Given the description of an element on the screen output the (x, y) to click on. 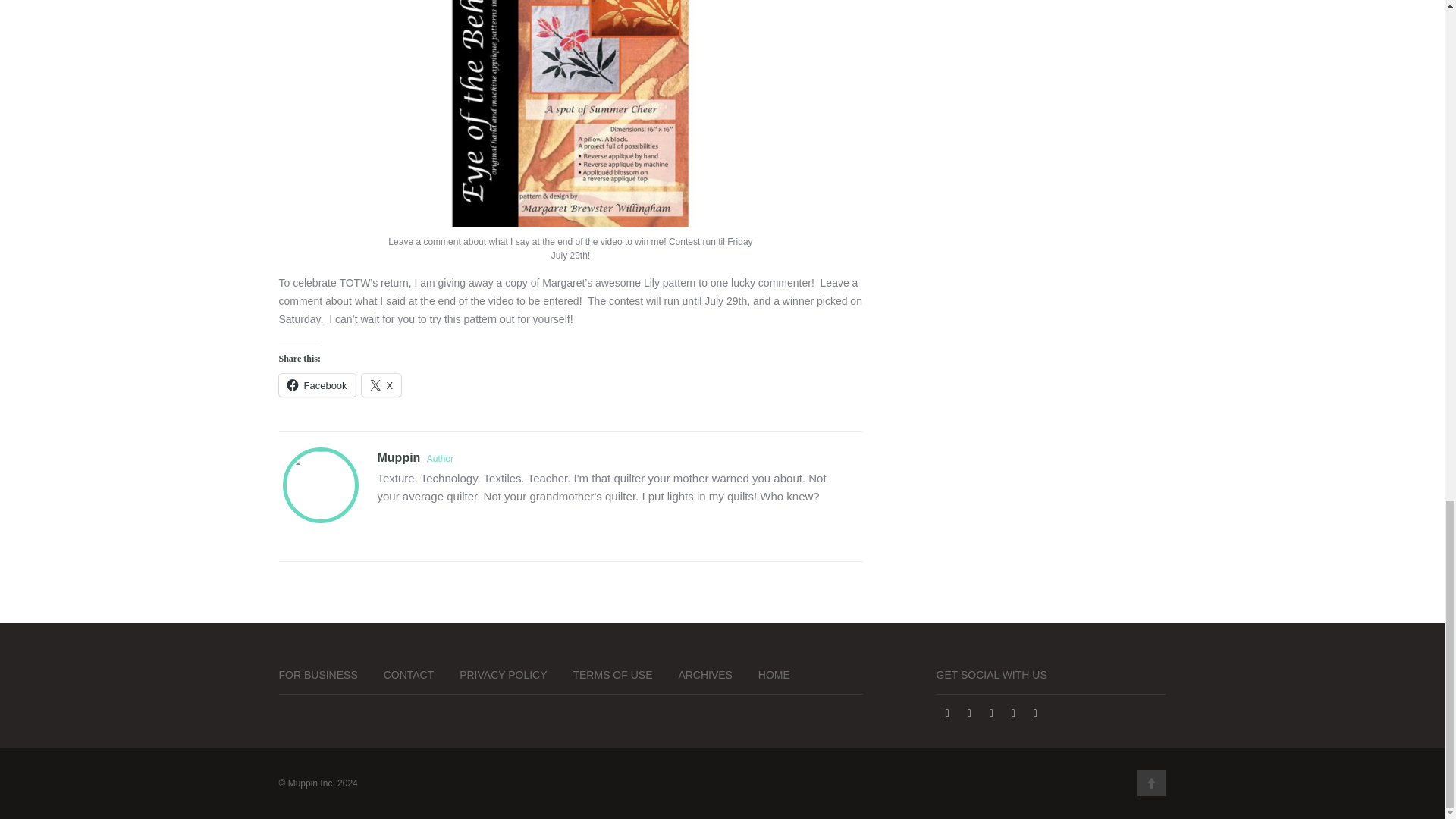
Click to share on X (381, 384)
CONTACT (408, 674)
X (381, 384)
PRIVACY POLICY (503, 674)
HOME (774, 674)
Muppin (398, 457)
ARCHIVES (705, 674)
Click to share on Facebook (317, 384)
Facebook (317, 384)
Posts by Muppin (398, 457)
FOR BUSINESS (318, 674)
TERMS OF USE (612, 674)
